Given the description of an element on the screen output the (x, y) to click on. 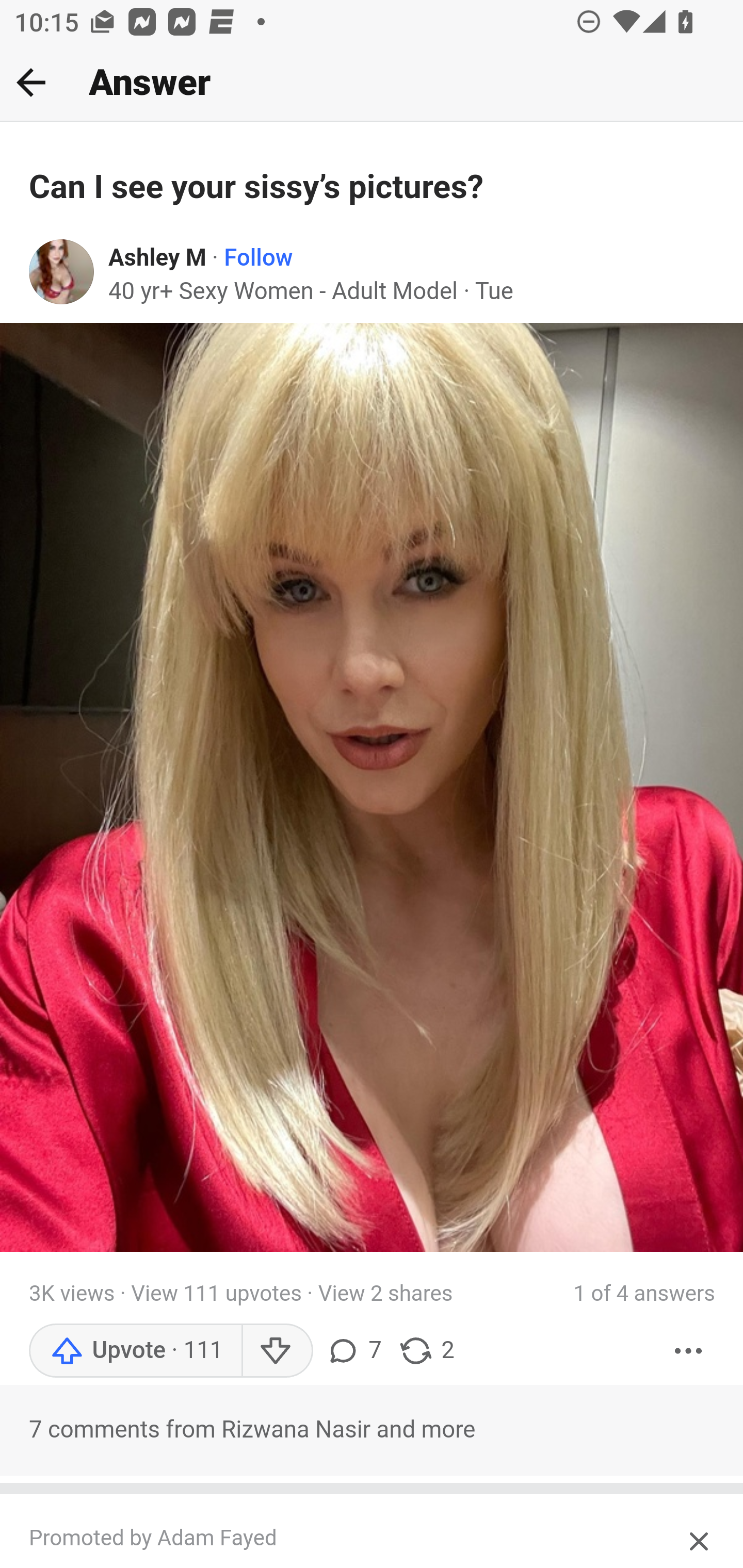
Back Answer (371, 82)
Back (30, 82)
Can I see your sissy’s pictures? (372, 187)
Profile photo for Ashley M (61, 271)
Ashley M (157, 257)
Follow (258, 257)
Tue (493, 292)
Tue (493, 292)
View 111 upvotes (216, 1292)
View 2 shares (385, 1292)
1 of 4 answers (644, 1294)
Upvote (135, 1350)
Downvote (277, 1350)
7 comments (353, 1350)
2 shares (425, 1350)
More (688, 1350)
7 comments from Rizwana Nasir and more (371, 1429)
Hide (699, 1537)
Promoted by Adam Fayed (352, 1539)
